Given the description of an element on the screen output the (x, y) to click on. 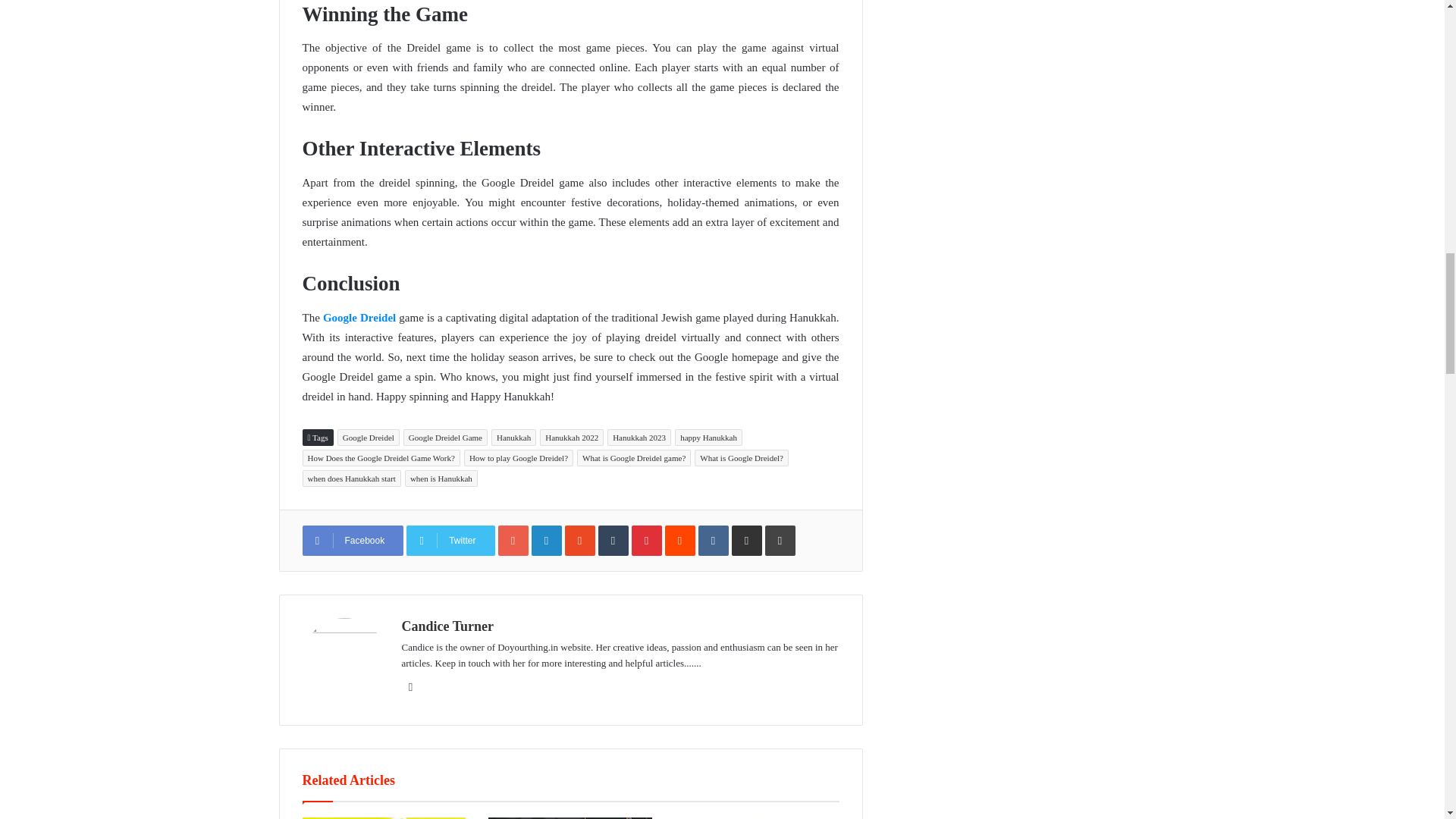
Google Dreidel (367, 437)
Google Dreidel Game (445, 437)
Facebook (352, 540)
Hanukkah 2022 (572, 437)
Google Dreidel (359, 317)
How to play Google Dreidel? (518, 457)
when is Hanukkah (440, 478)
Hanukkah (513, 437)
when does Hanukkah start (350, 478)
What is Google Dreidel game? (633, 457)
How Does the Google Dreidel Game Work? (380, 457)
Twitter (450, 540)
LinkedIn (546, 540)
happy Hanukkah (708, 437)
